Given the description of an element on the screen output the (x, y) to click on. 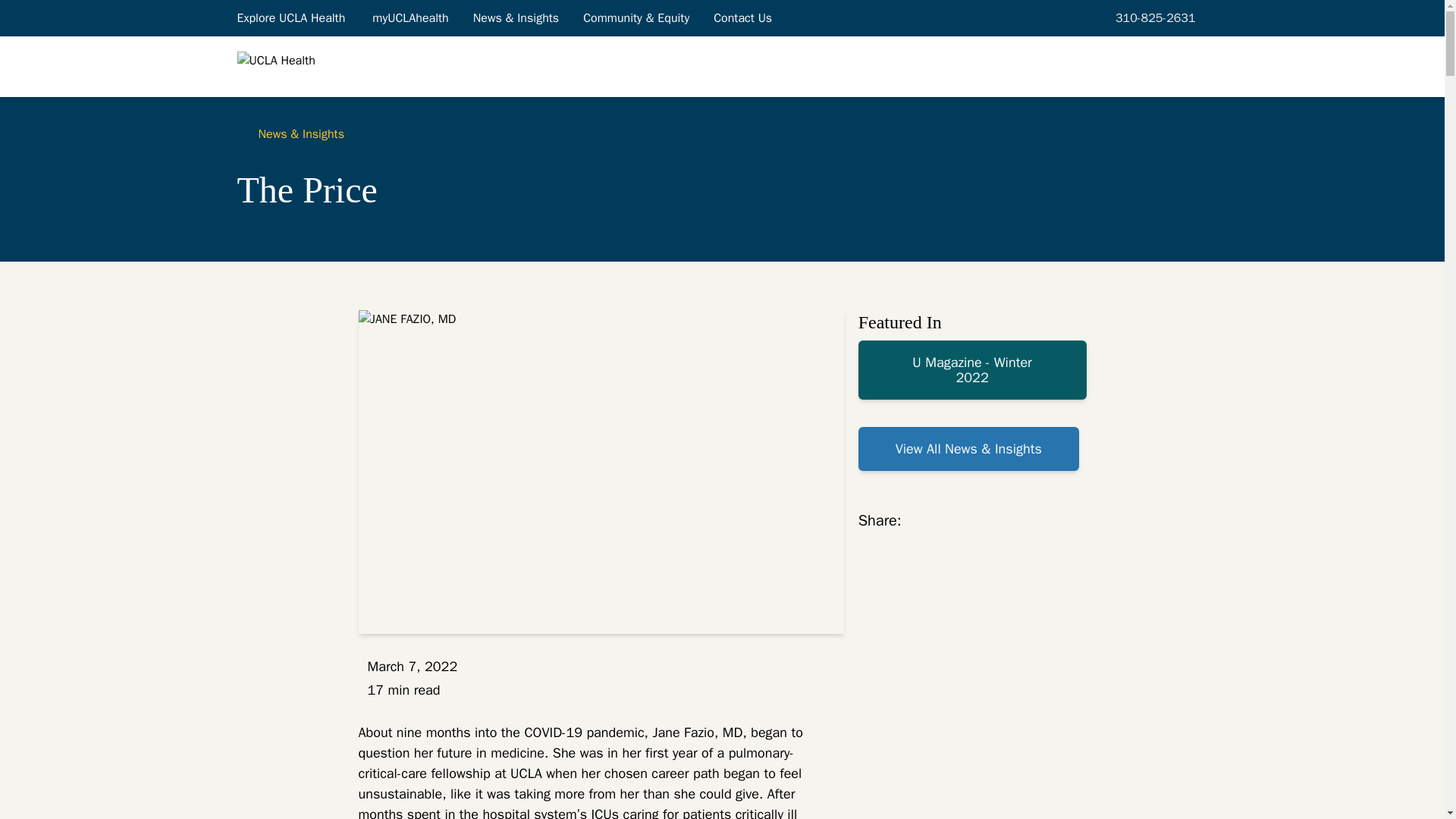
Contact Us (742, 17)
310-825-2631 (1152, 17)
Explore UCLA Health (291, 17)
myUCLAhealth (409, 17)
myUCLAhealth Login. (409, 17)
